Given the description of an element on the screen output the (x, y) to click on. 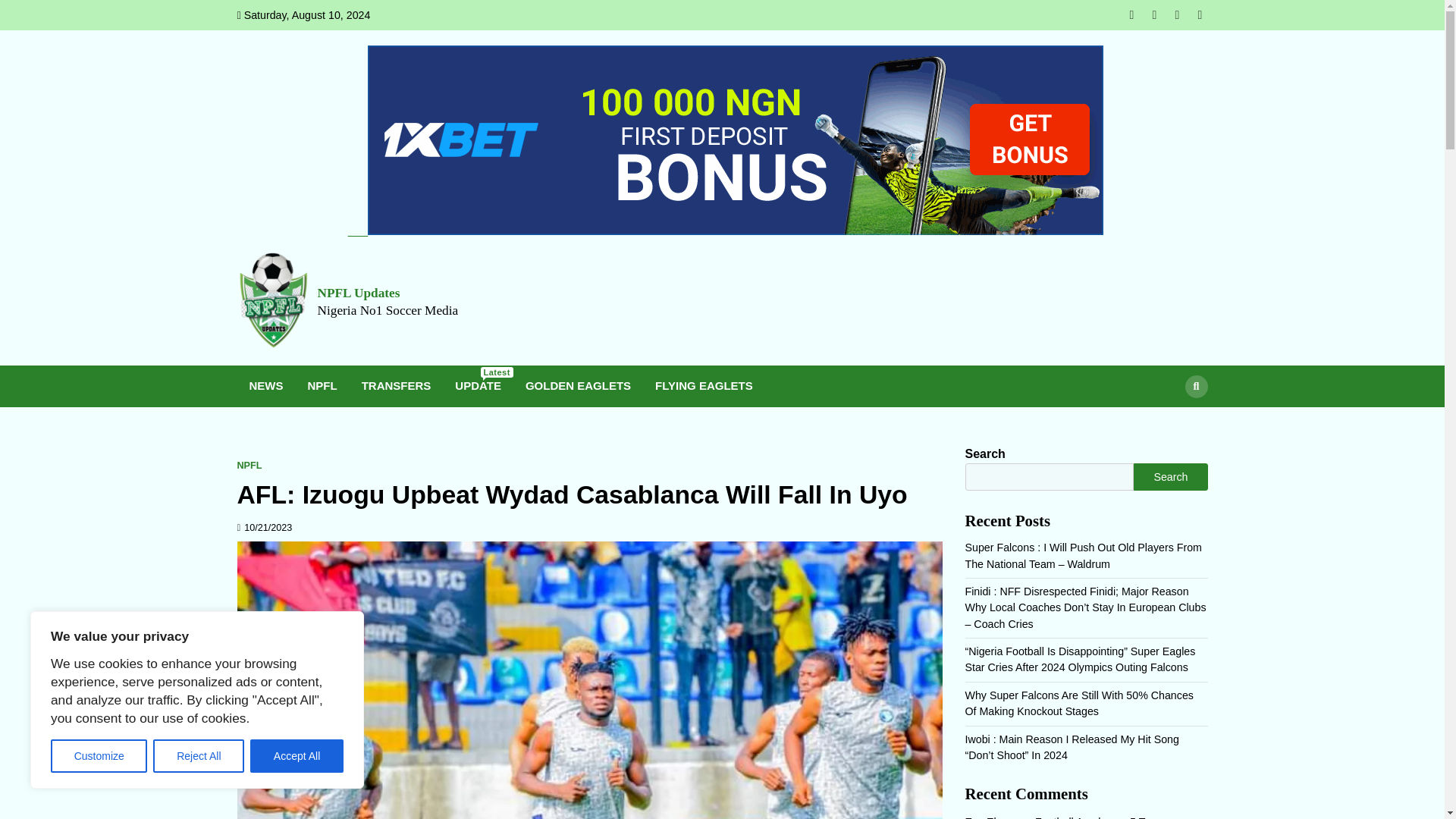
NPFL (248, 465)
Customize (98, 756)
Accept All (296, 756)
TRANSFERS (396, 385)
NEWS (265, 385)
NPFL Updates (357, 292)
Search (1168, 420)
NPFL (322, 385)
facebook (1131, 14)
